Given the description of an element on the screen output the (x, y) to click on. 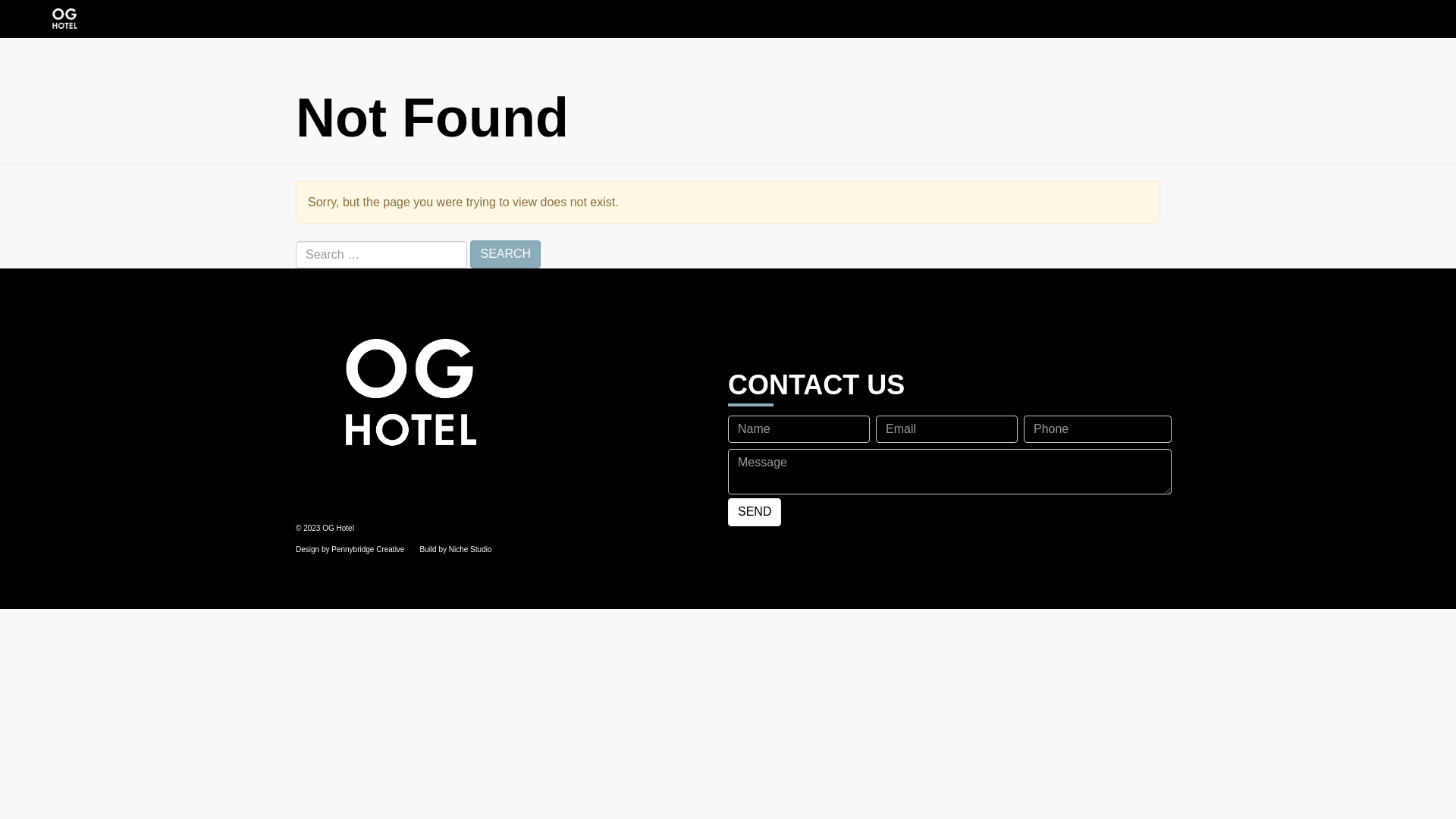
OG Hotel Element type: text (505, 393)
Design by Pennybridge Creative Element type: text (349, 549)
Send Element type: text (754, 512)
OG Hotel Element type: text (64, 18)
Search Element type: text (505, 254)
Build by Niche Studio Element type: text (455, 549)
